Given the description of an element on the screen output the (x, y) to click on. 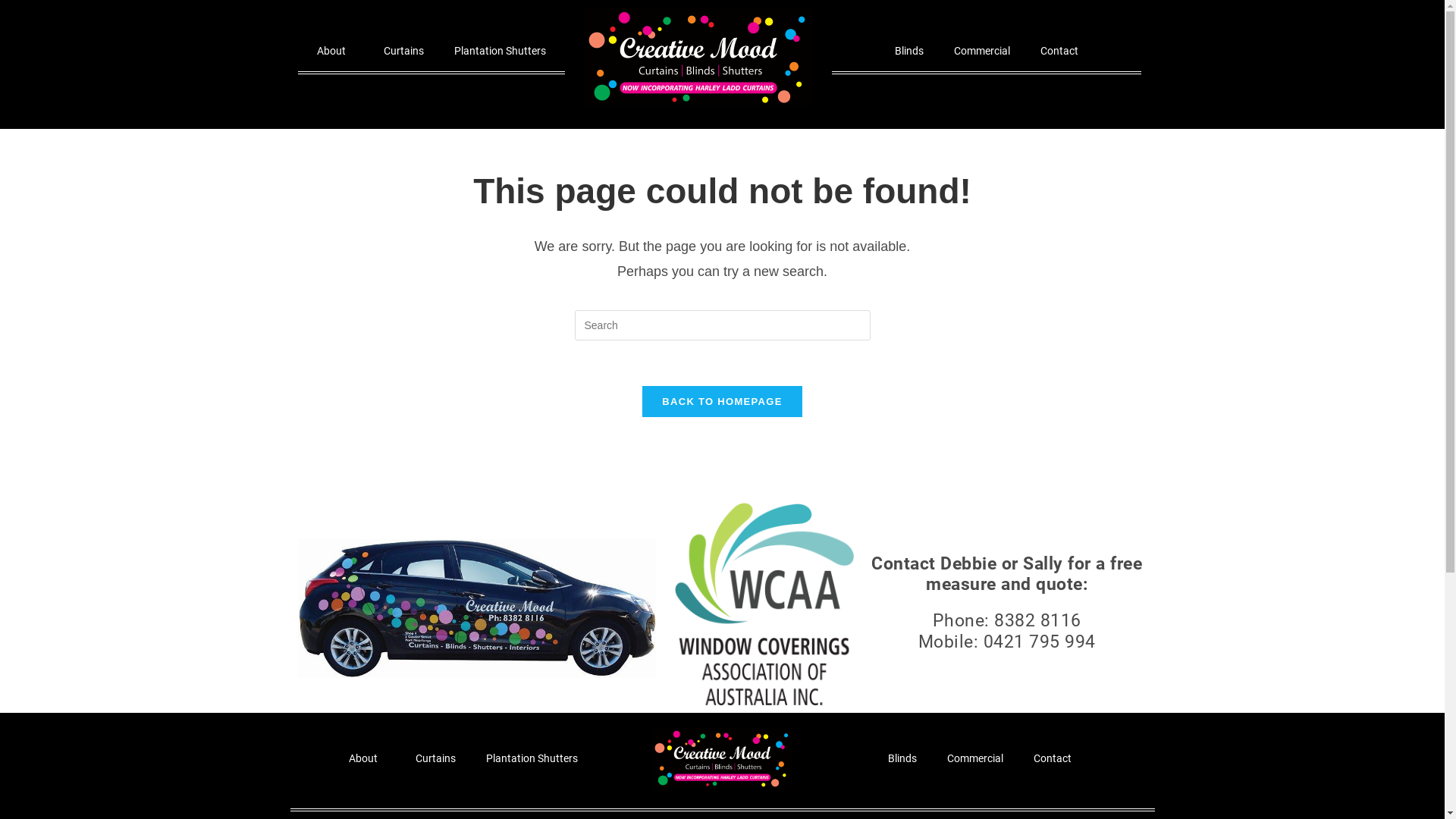
Blinds Element type: text (908, 50)
Commercial Element type: text (974, 758)
Contact Element type: text (1059, 50)
Plantation Shutters Element type: text (531, 758)
About Element type: text (366, 758)
Contact Element type: text (1052, 758)
Plantation Shutters Element type: text (500, 50)
About Element type: text (334, 50)
Blinds Element type: text (901, 758)
Curtains Element type: text (403, 50)
Commercial Element type: text (981, 50)
BACK TO HOMEPAGE Element type: text (721, 401)
Curtains Element type: text (435, 758)
